Given the description of an element on the screen output the (x, y) to click on. 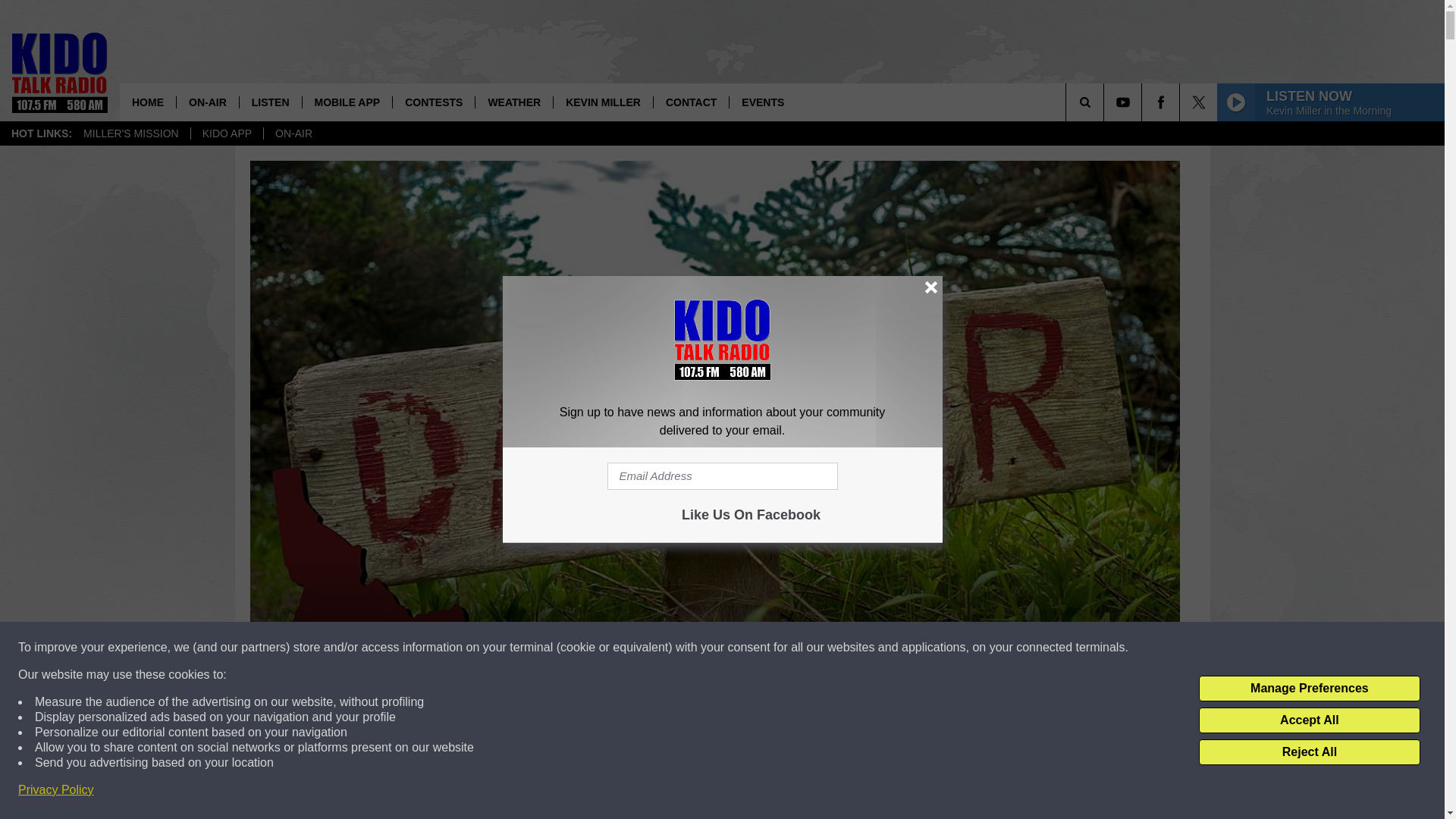
KIDO APP (226, 133)
WEATHER (513, 102)
Accept All (1309, 720)
KEVIN MILLER (602, 102)
MILLER'S MISSION (130, 133)
SEARCH (1106, 102)
CONTESTS (432, 102)
Reject All (1309, 751)
SEARCH (1106, 102)
MOBILE APP (347, 102)
HOME (147, 102)
Manage Preferences (1309, 688)
Email Address (722, 475)
ON-AIR (293, 133)
LISTEN (269, 102)
